Given the description of an element on the screen output the (x, y) to click on. 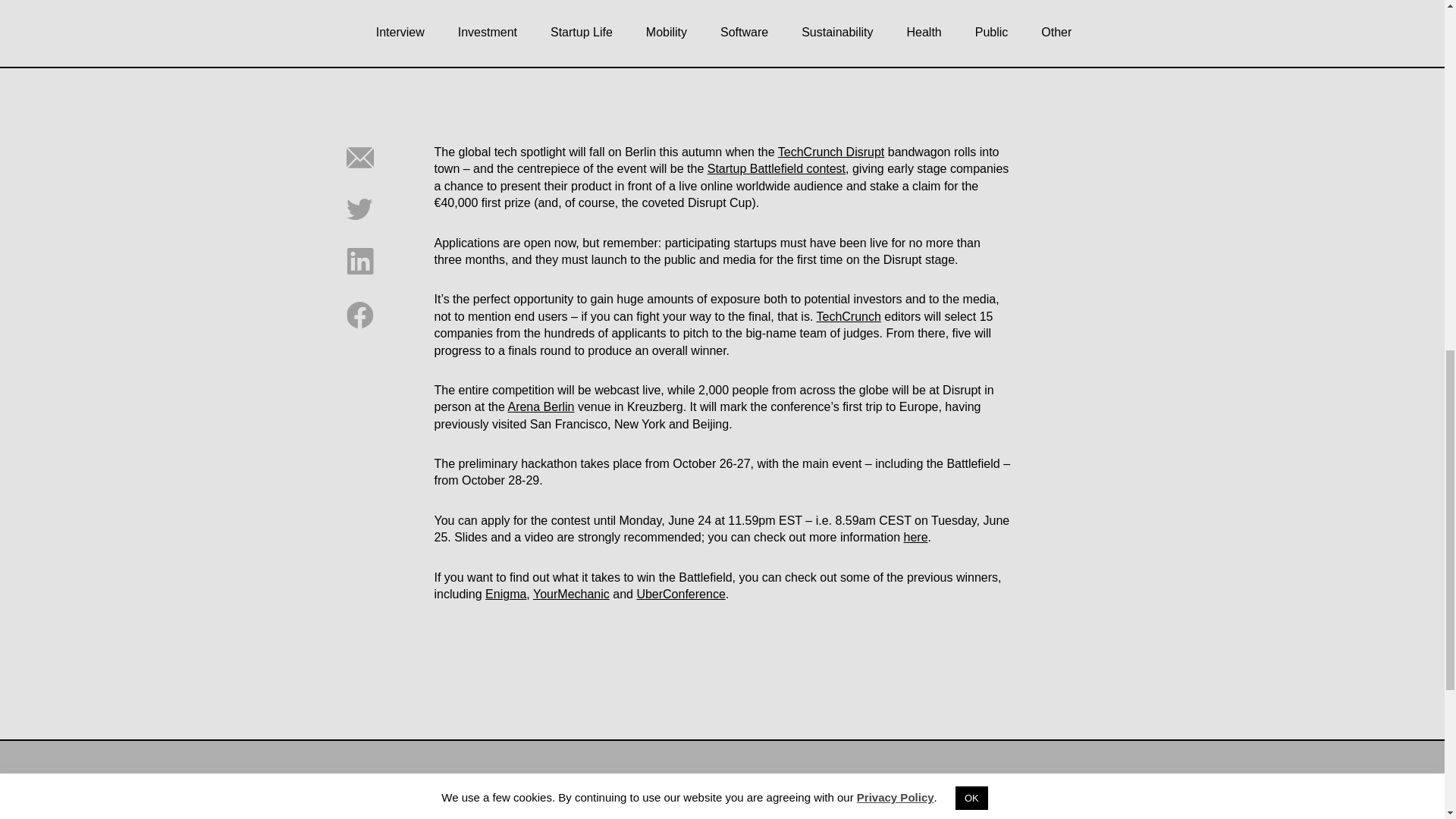
TechCrunch (847, 316)
here (916, 536)
TechCrunch Disrupt (831, 151)
Silicon Allee UG (1103, 810)
UberConference (680, 594)
Startup Battlefield contest (776, 168)
Contact us (756, 810)
YourMechanic (571, 594)
Arena Berlin (539, 406)
Enigma (504, 594)
Share by Email (359, 166)
